Given the description of an element on the screen output the (x, y) to click on. 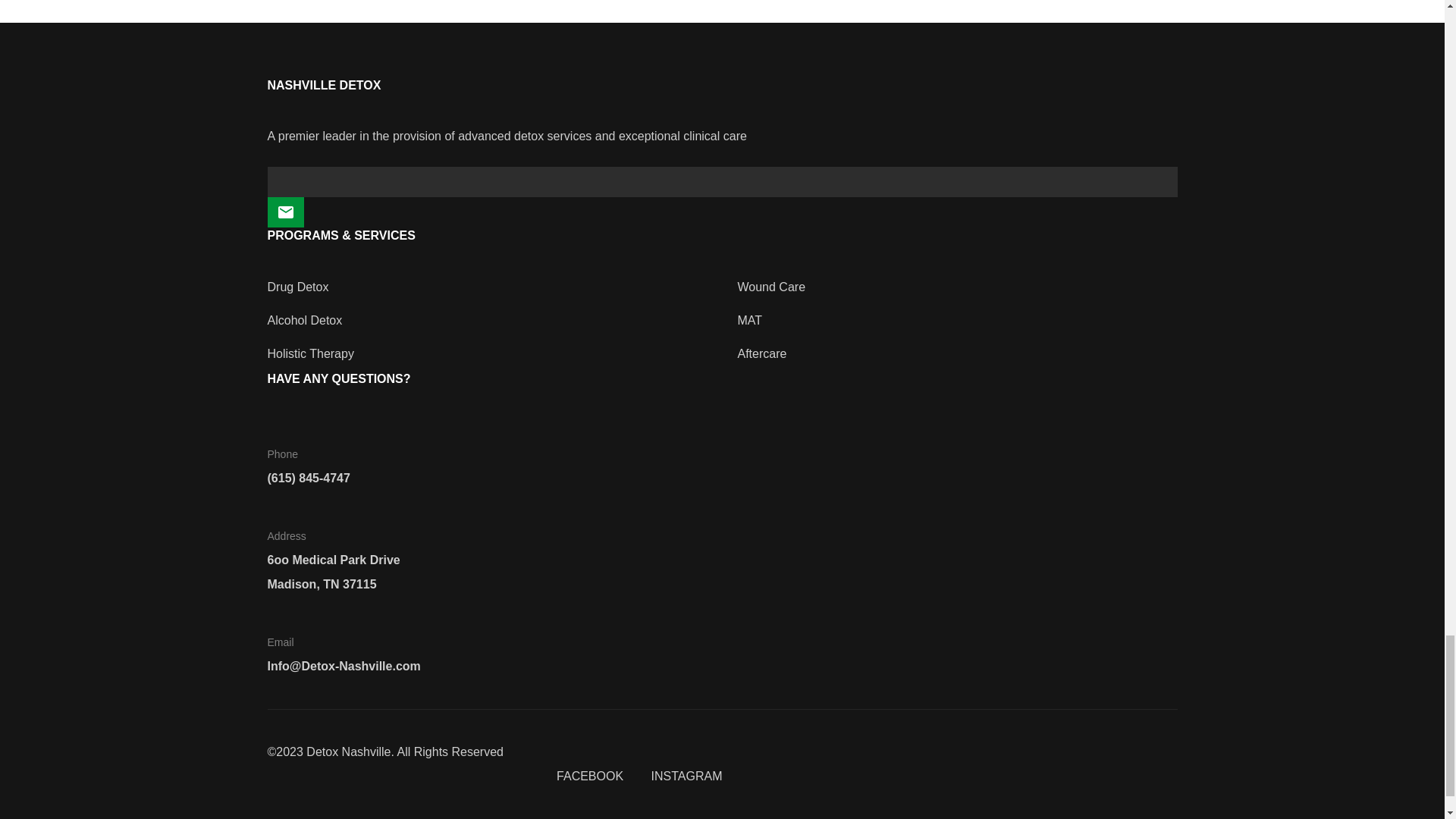
Subscribe (284, 212)
